Given the description of an element on the screen output the (x, y) to click on. 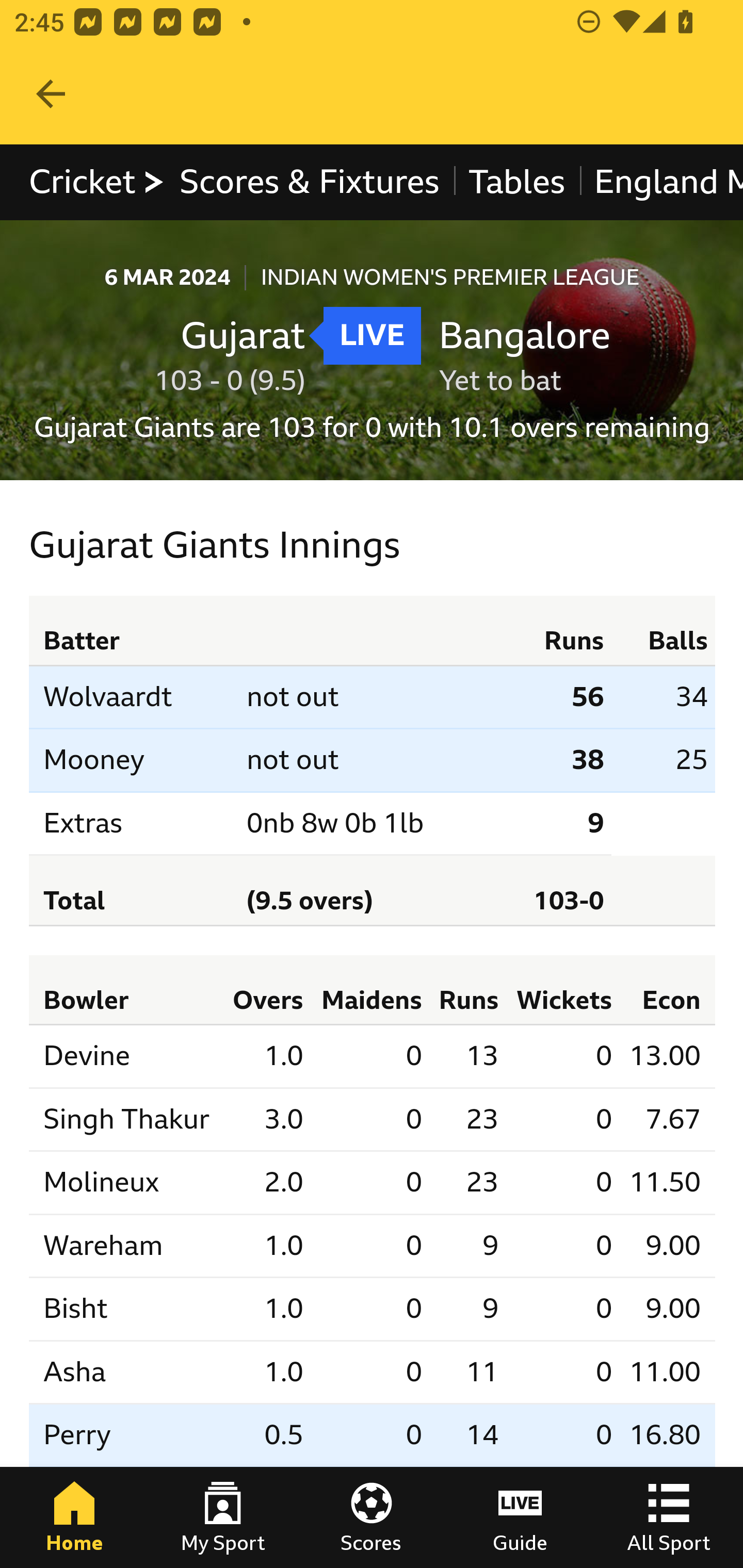
Navigate up (50, 93)
Cricket  (97, 181)
Scores & Fixtures (309, 181)
Tables (517, 181)
England Men (660, 181)
My Sport (222, 1517)
Scores (371, 1517)
Guide (519, 1517)
All Sport (668, 1517)
